Given the description of an element on the screen output the (x, y) to click on. 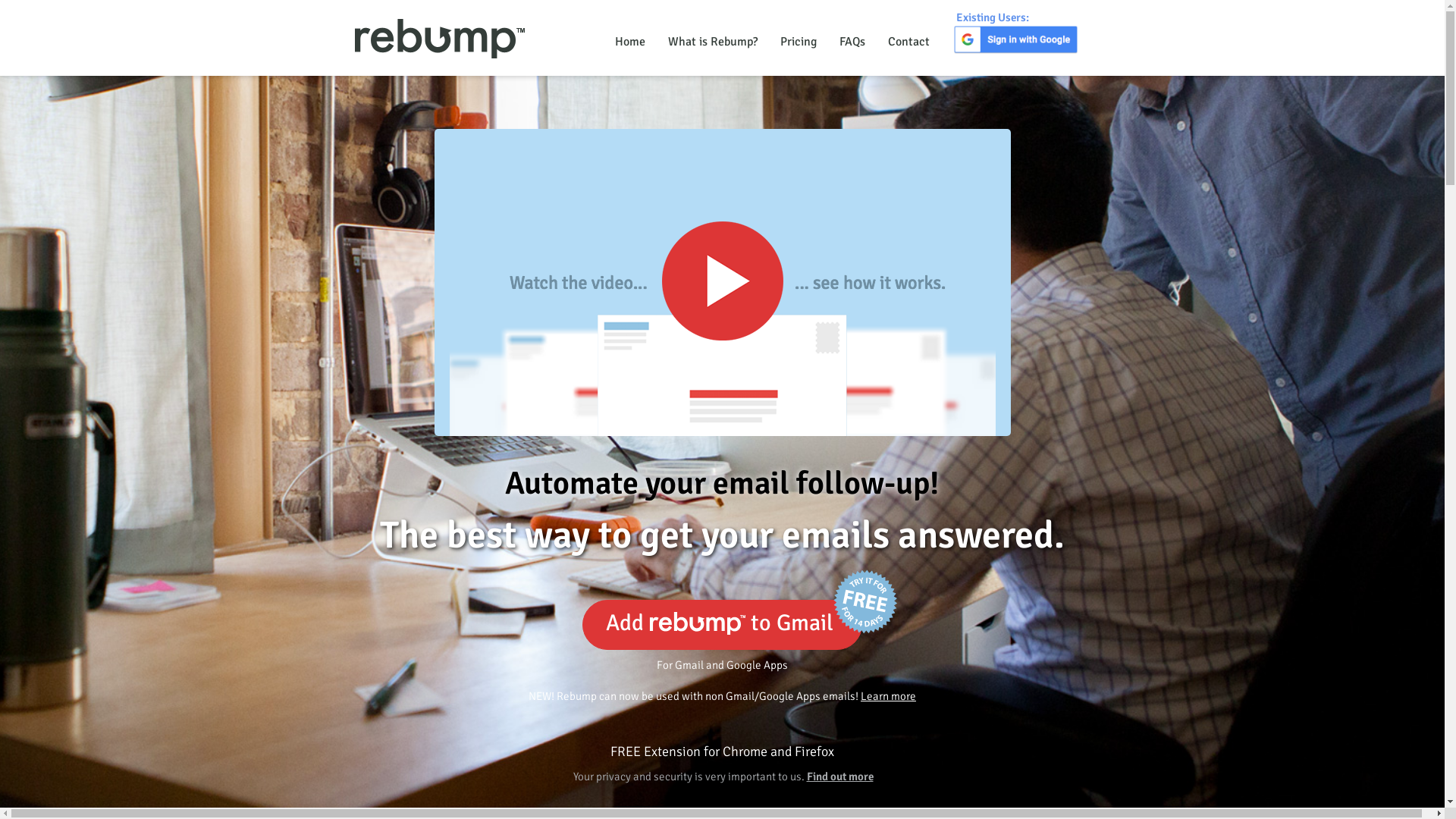
Add to Gmail free Element type: text (722, 624)
Find out more Element type: text (839, 776)
Pricing Element type: text (798, 41)
Home Element type: text (630, 41)
FAQs Element type: text (852, 41)
What is Rebump? Element type: text (712, 41)
Contact Element type: text (908, 41)
Learn more Element type: text (888, 695)
